Given the description of an element on the screen output the (x, y) to click on. 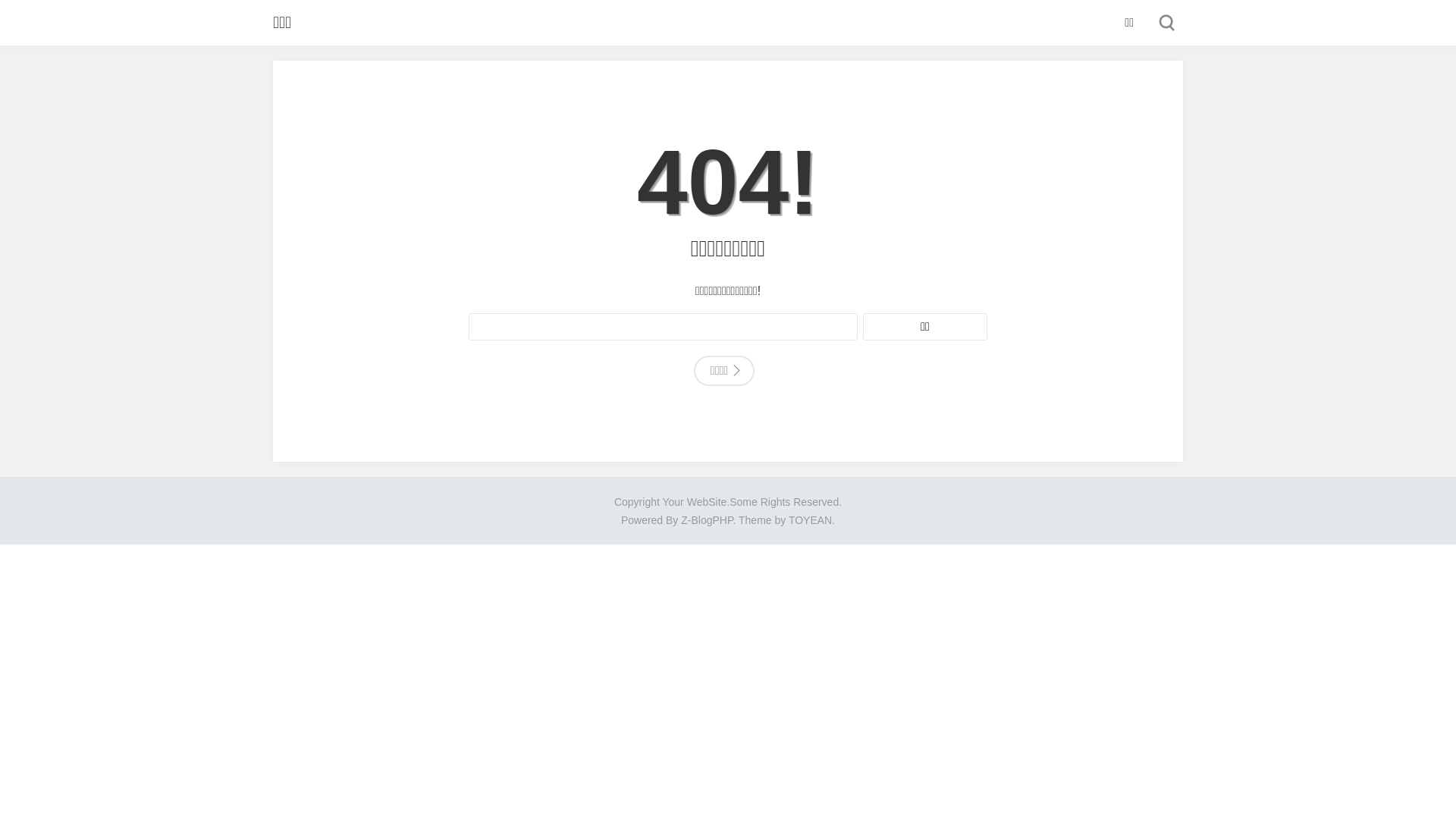
TOYEAN Element type: text (809, 520)
Z-BlogPHP Element type: text (706, 520)
